Given the description of an element on the screen output the (x, y) to click on. 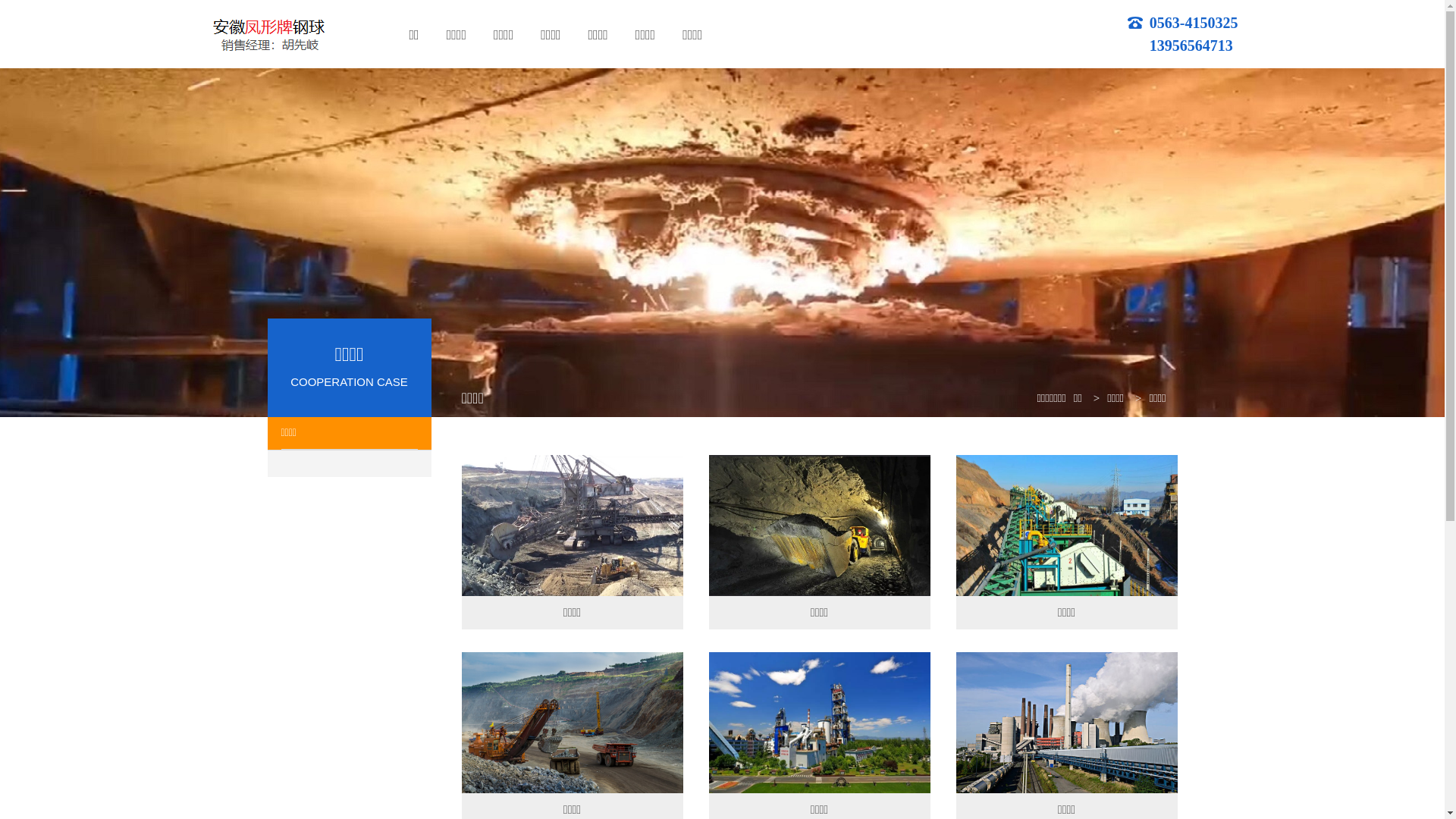
logo Element type: hover (267, 33)
